Given the description of an element on the screen output the (x, y) to click on. 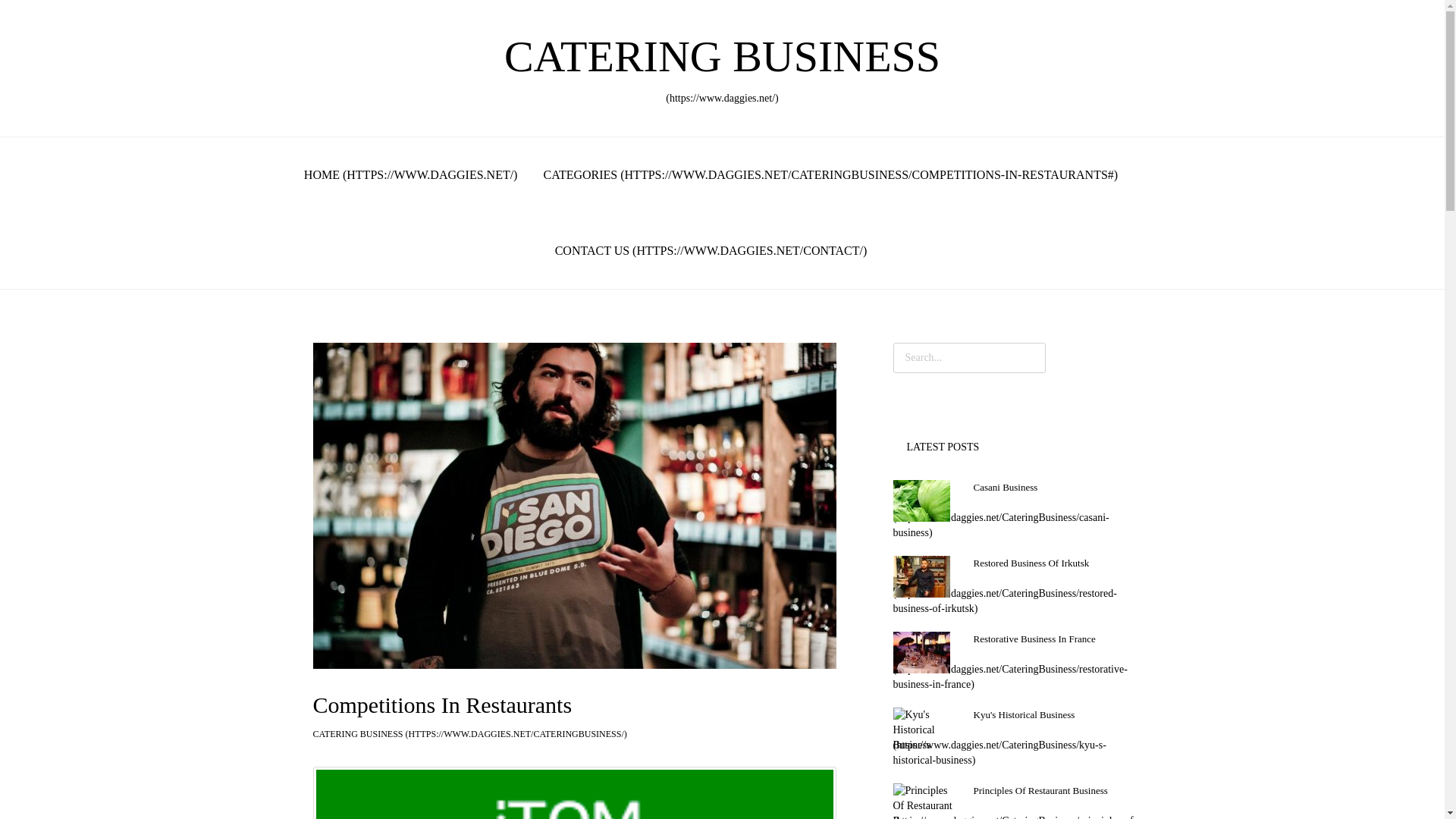
HOME (411, 174)
CATERING BUSINESS (469, 733)
CATEGORIES (830, 174)
CONTACT US (710, 250)
